Given the description of an element on the screen output the (x, y) to click on. 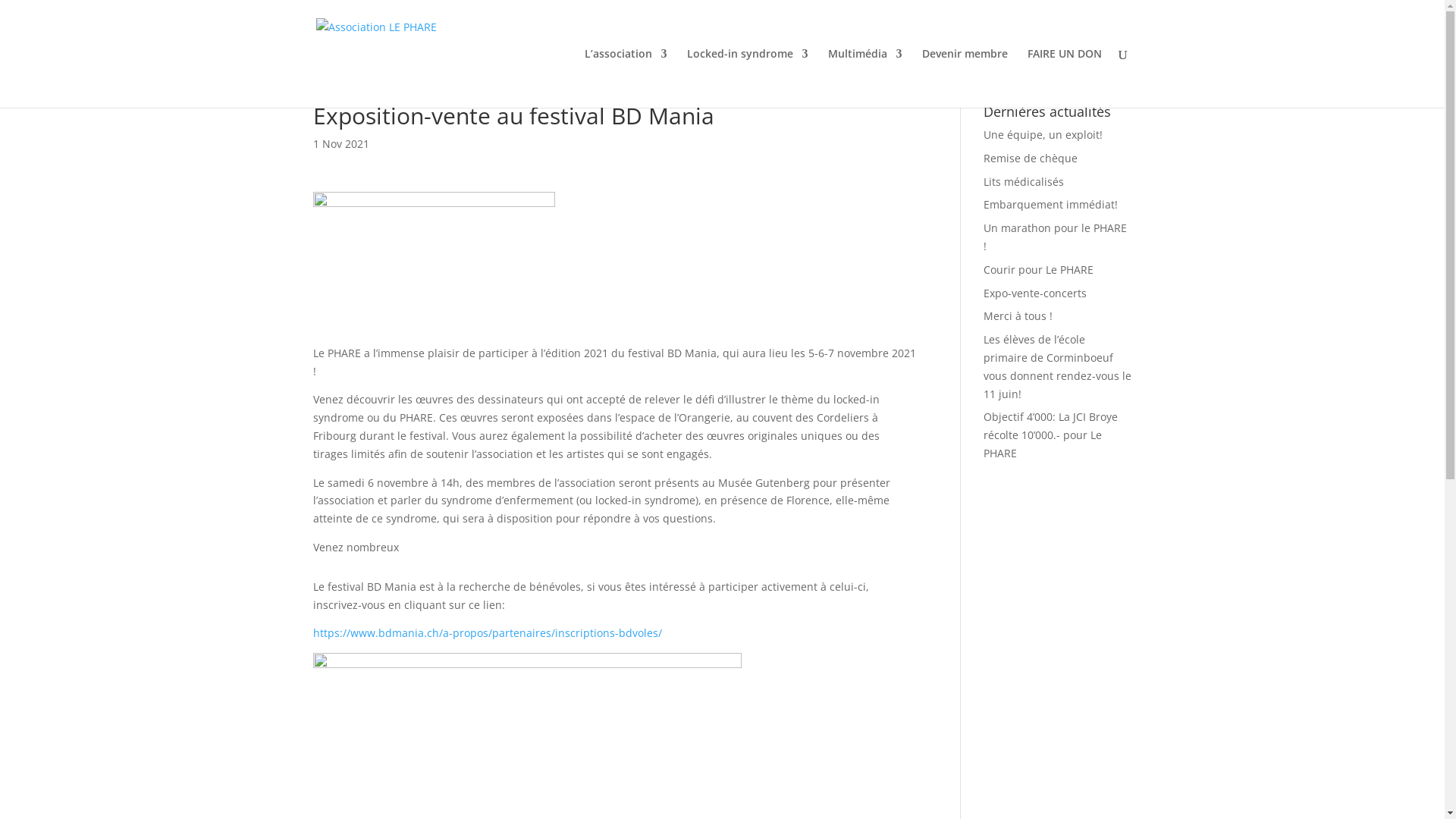
ania.ch/a-propos/partenaires/inscriptions-bdvoles/ Element type: text (531, 632)
https://www.bdm Element type: text (356, 632)
Expo-vente-concerts Element type: text (1034, 292)
Locked-in syndrome Element type: text (747, 77)
Courir pour Le PHARE Element type: text (1038, 269)
Devenir membre Element type: text (964, 77)
FAIRE UN DON Element type: text (1063, 77)
Un marathon pour le PHARE ! Element type: text (1054, 236)
